Given the description of an element on the screen output the (x, y) to click on. 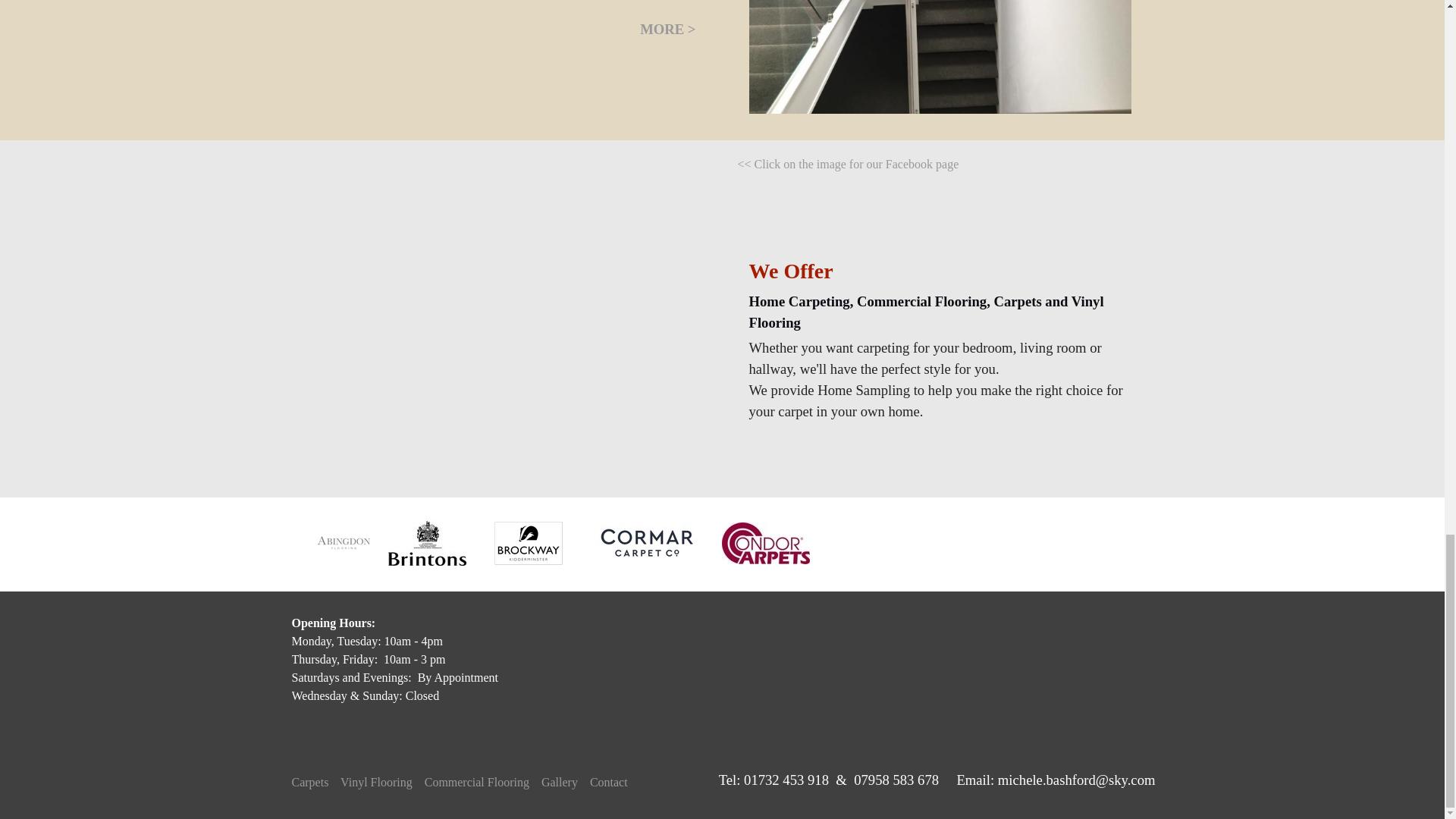
Contact (608, 781)
Carpets (310, 781)
Gallery (559, 781)
Commercial Flooring (477, 781)
Vinyl Flooring (376, 781)
